Given the description of an element on the screen output the (x, y) to click on. 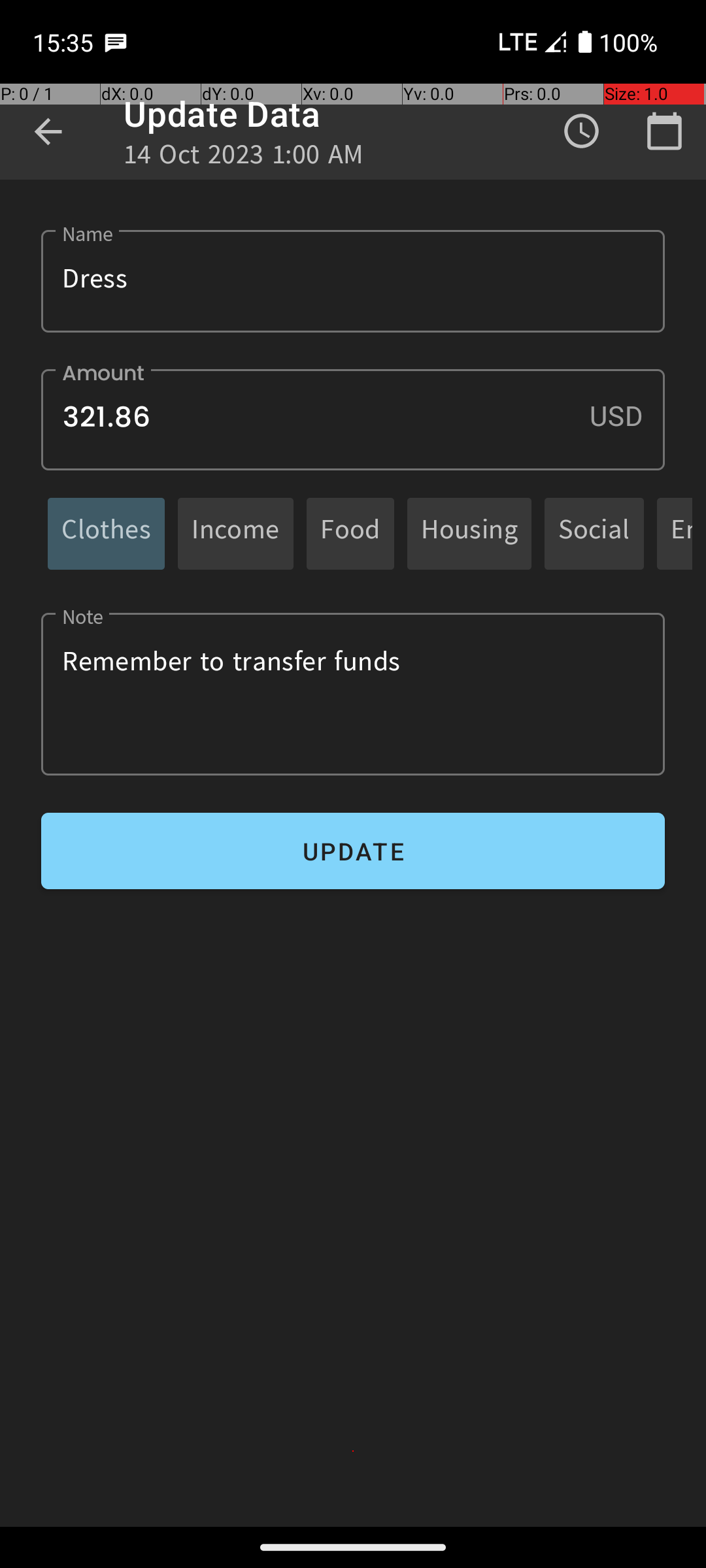
14 Oct 2023 1:00 AM Element type: android.widget.TextView (243, 157)
Dress Element type: android.widget.EditText (352, 280)
321.86 Element type: android.widget.EditText (352, 419)
Clothes Element type: android.widget.TextView (106, 533)
